Given the description of an element on the screen output the (x, y) to click on. 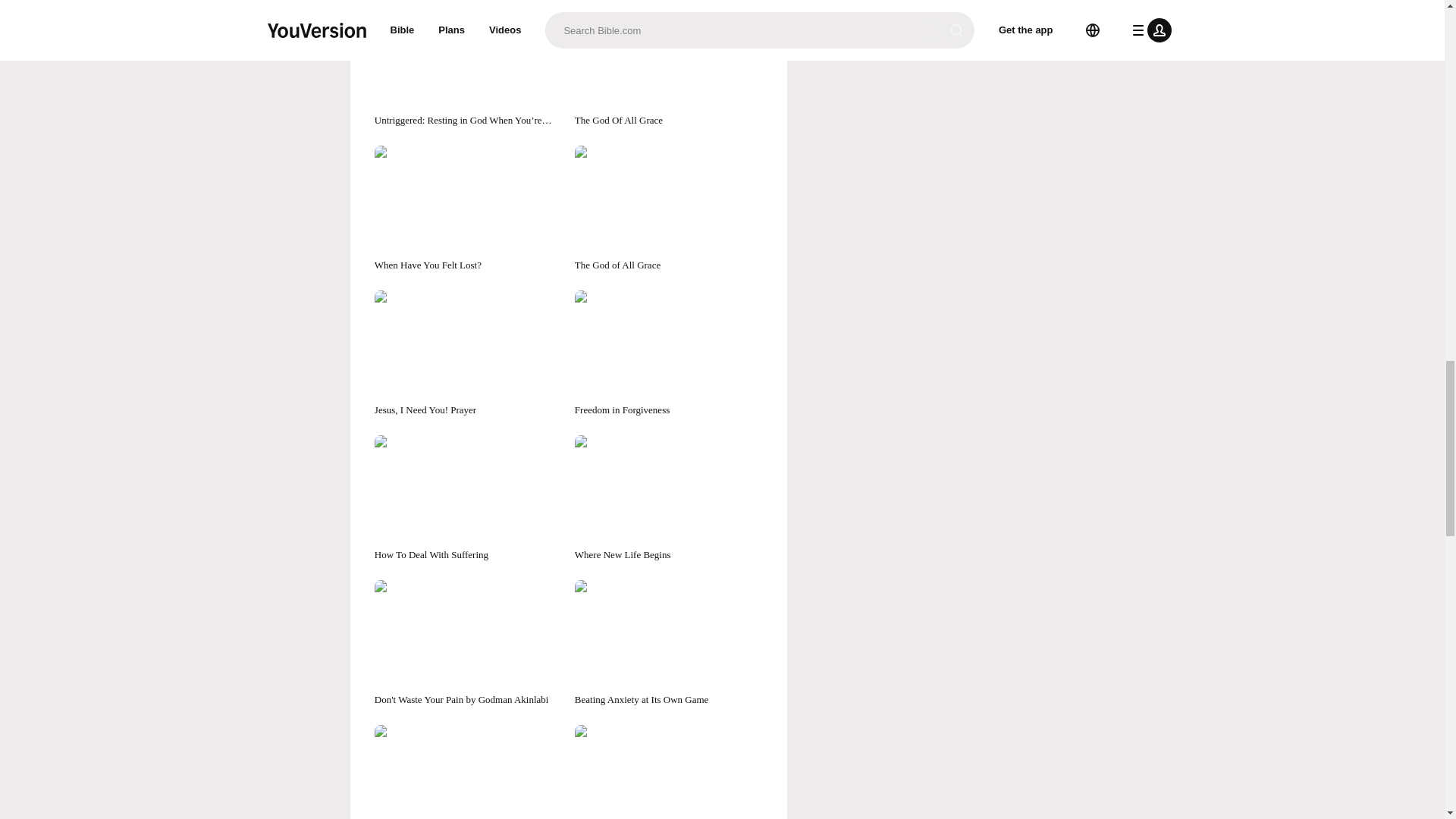
Jesus, I Need You! Prayer (468, 353)
The God Of All Grace (668, 63)
The God of All Grace (668, 208)
Freedom in Forgiveness (668, 353)
When Have You Felt Lost? (468, 208)
